Given the description of an element on the screen output the (x, y) to click on. 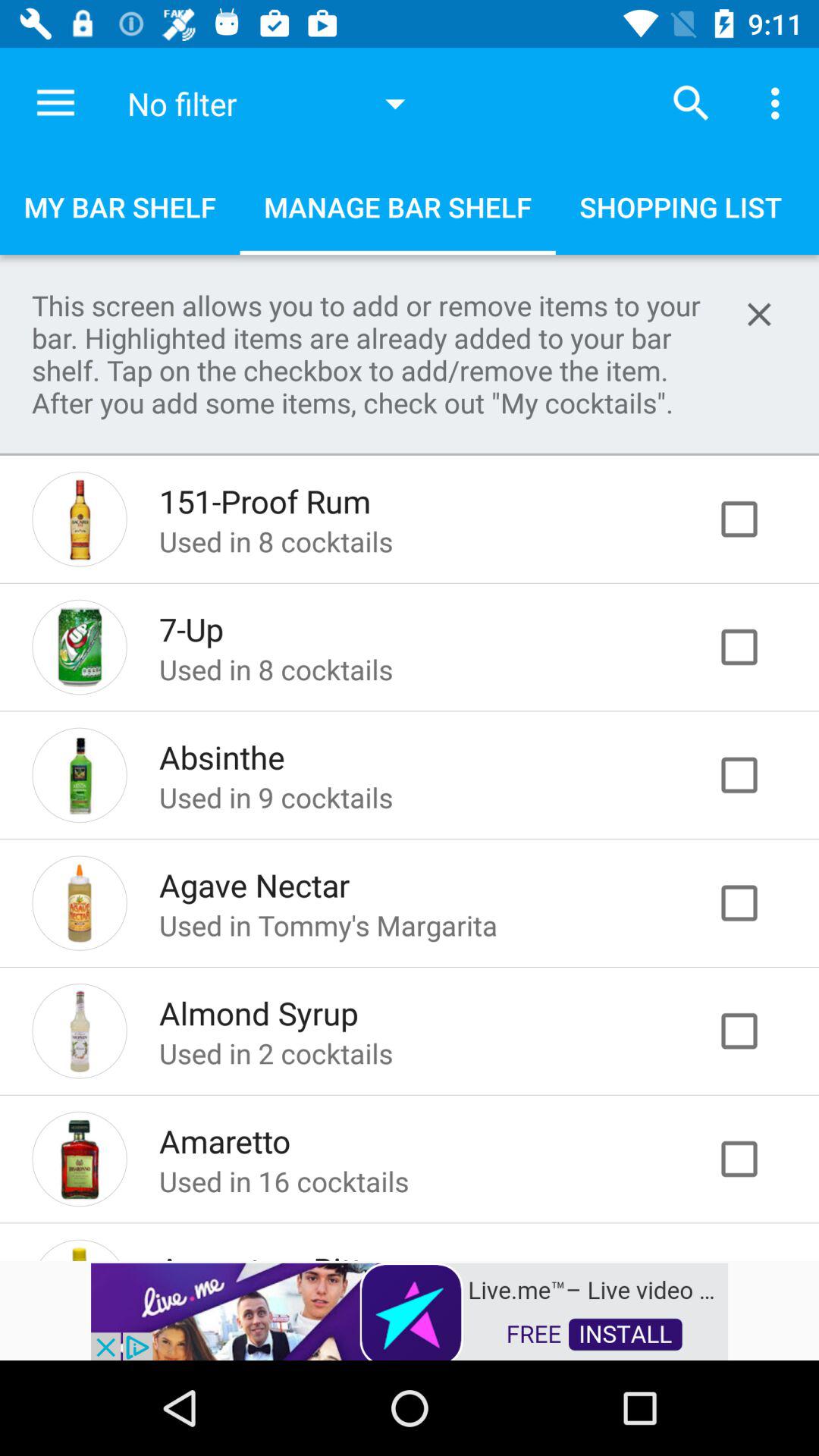
clik (755, 646)
